Given the description of an element on the screen output the (x, y) to click on. 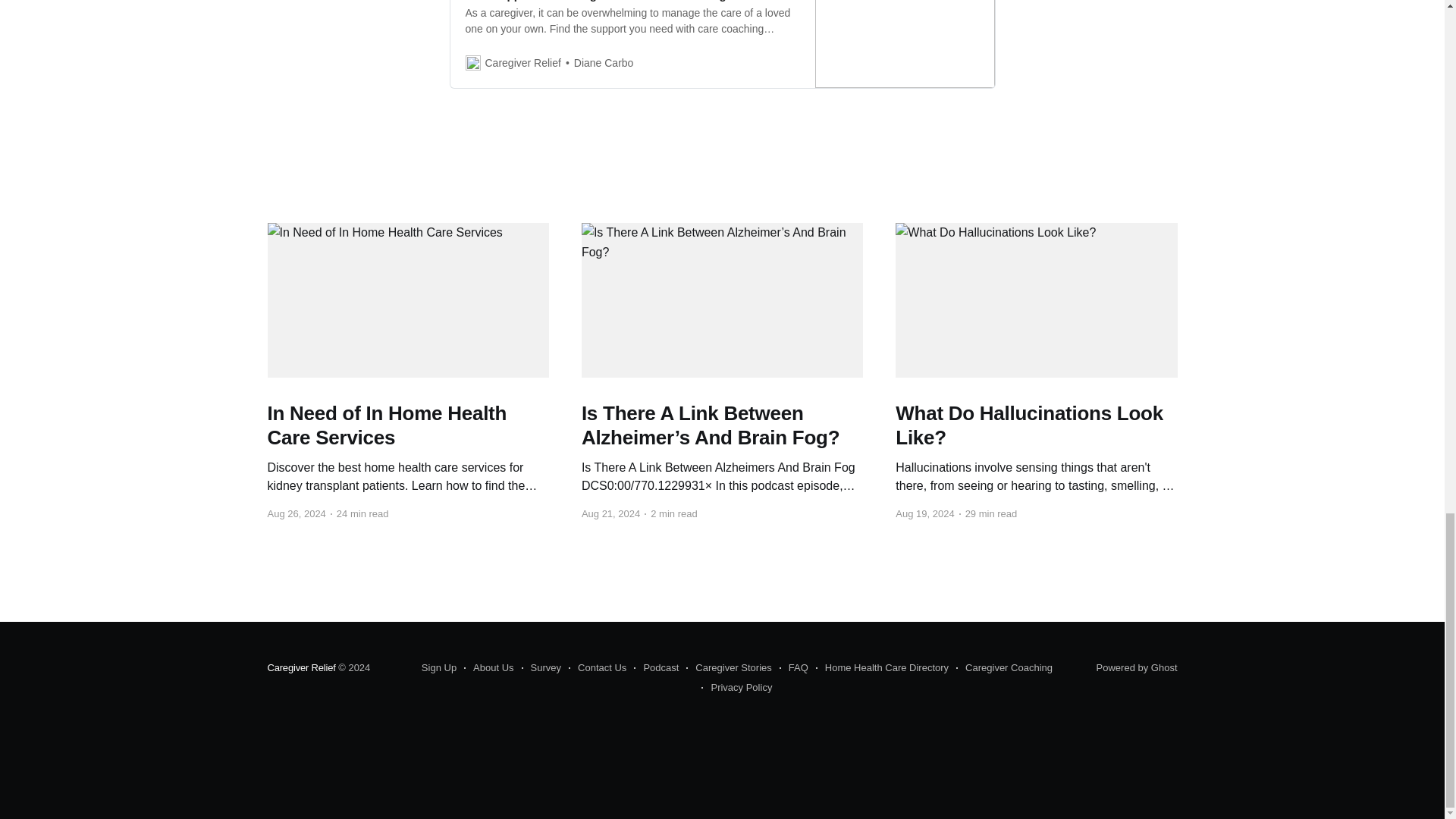
Survey (540, 668)
Sign Up (439, 668)
Powered by Ghost (1136, 667)
Contact Us (597, 668)
Caregiver Relief (300, 667)
Caregiver Stories (728, 668)
Podcast (655, 668)
Caregiver Coaching (1004, 668)
FAQ (793, 668)
